Given the description of an element on the screen output the (x, y) to click on. 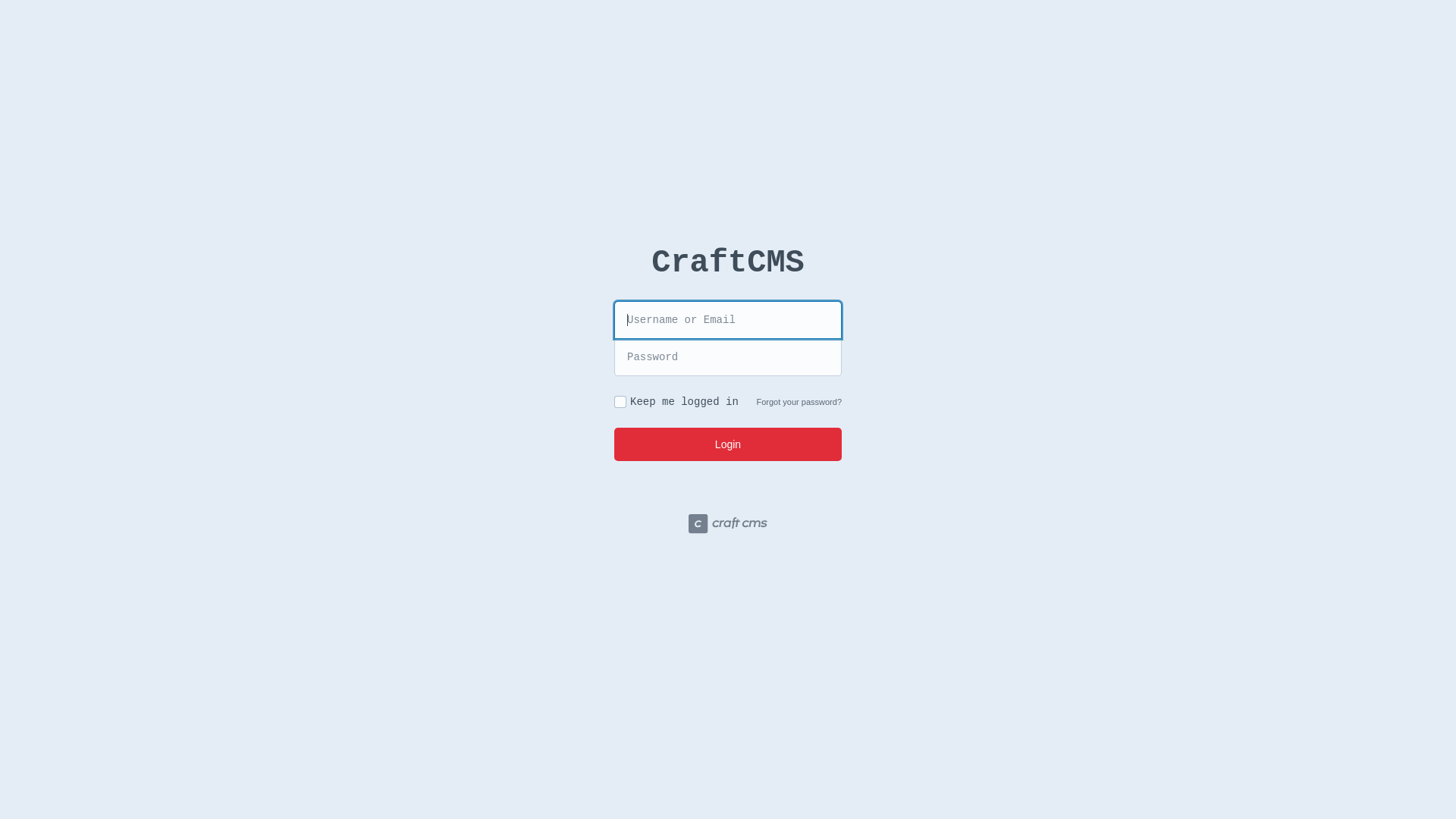
Login Element type: text (727, 444)
Powered by Craft CMS Element type: hover (727, 526)
Forgot your password? Element type: text (799, 401)
